Given the description of an element on the screen output the (x, y) to click on. 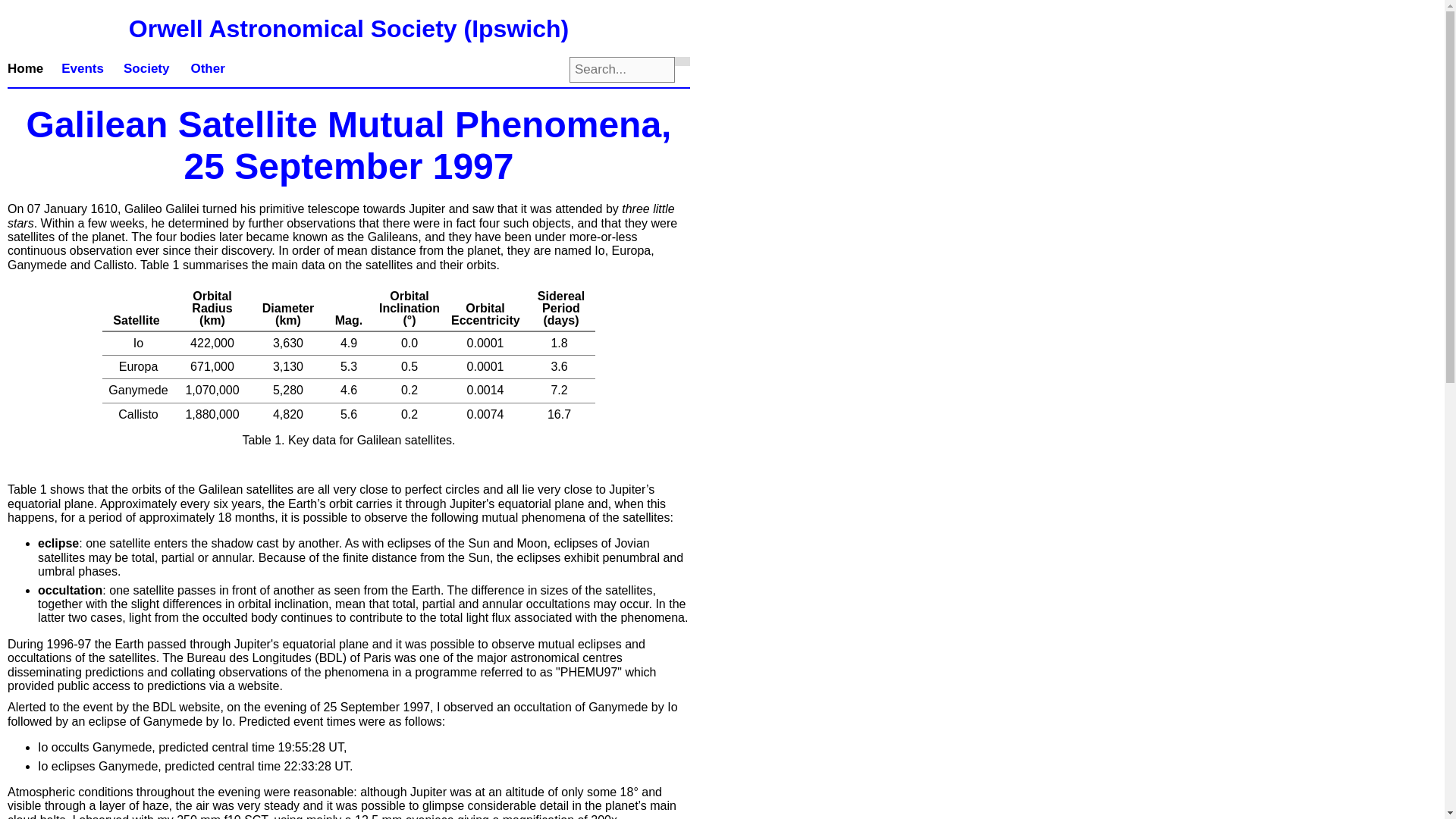
Home (29, 68)
Society (146, 68)
Other (206, 68)
Events (82, 68)
